Given the description of an element on the screen output the (x, y) to click on. 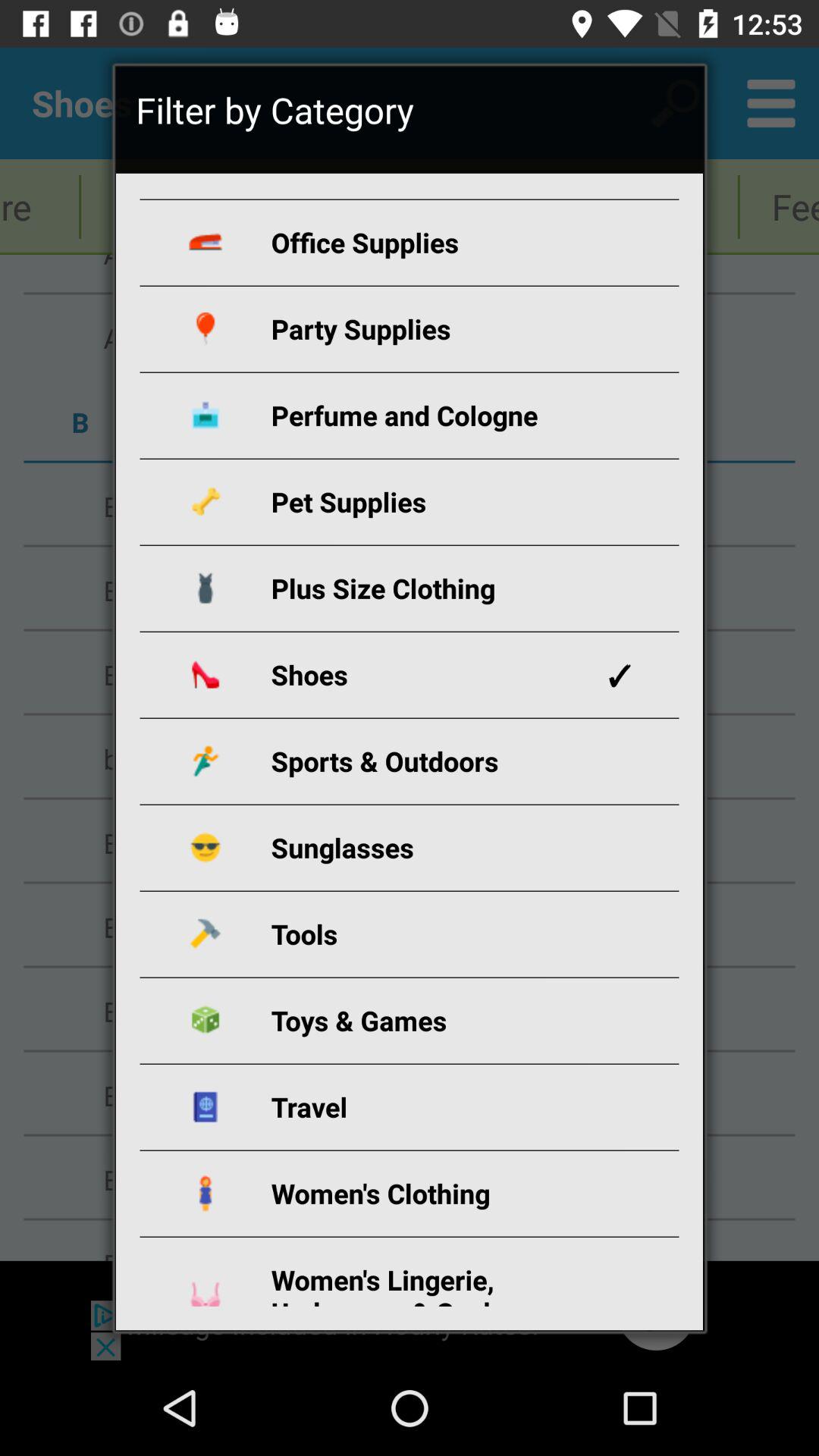
swipe to the travel item (427, 1106)
